Given the description of an element on the screen output the (x, y) to click on. 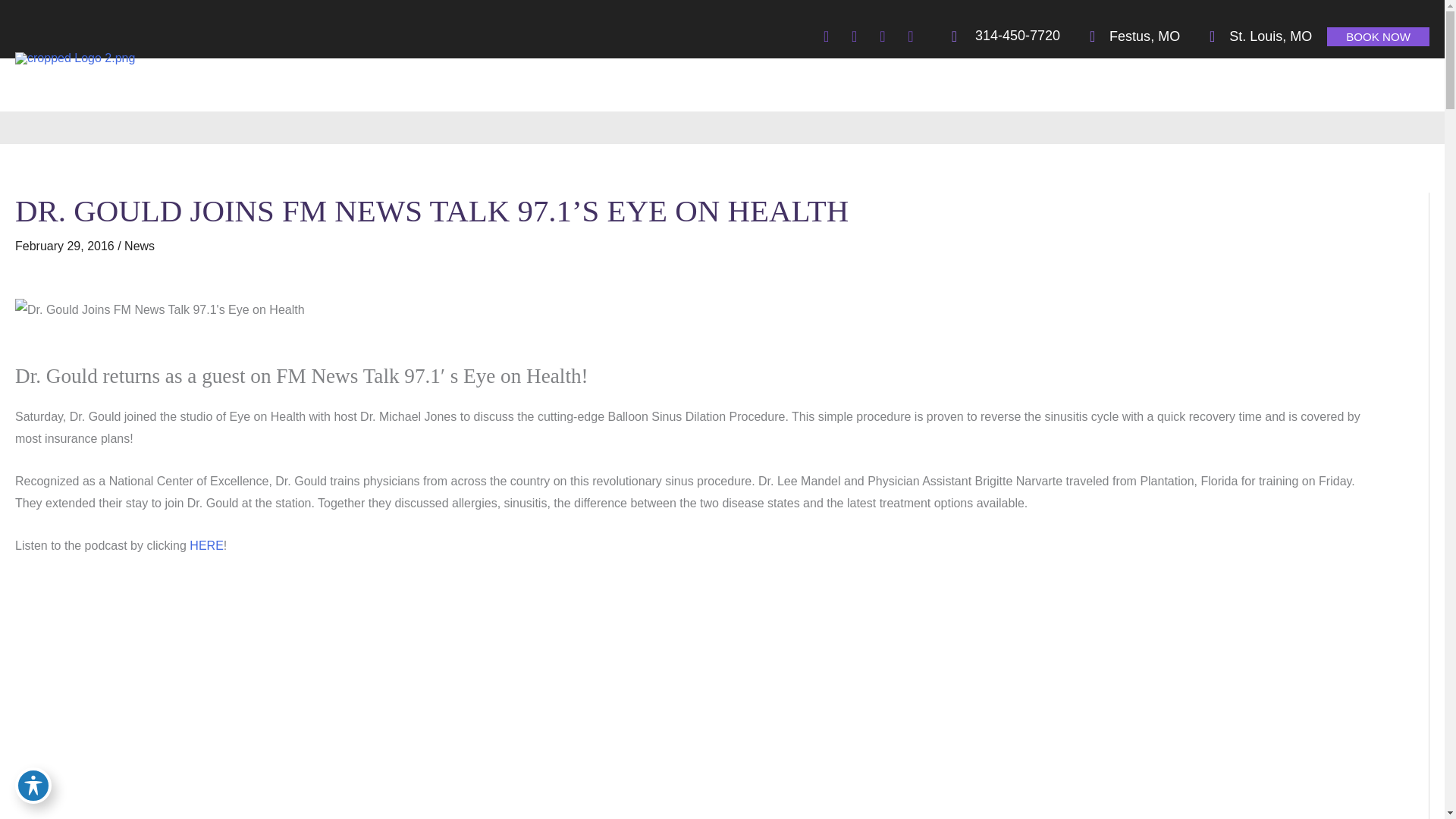
St. Louis, MO (1253, 35)
Dr. Gould Joins FM News Talk 97.1's Eye on Health (159, 308)
Why Us (819, 84)
Our Services (894, 84)
314-450-7720 (998, 35)
Festus, MO (1127, 35)
BOOK NOW (1377, 36)
